Given the description of an element on the screen output the (x, y) to click on. 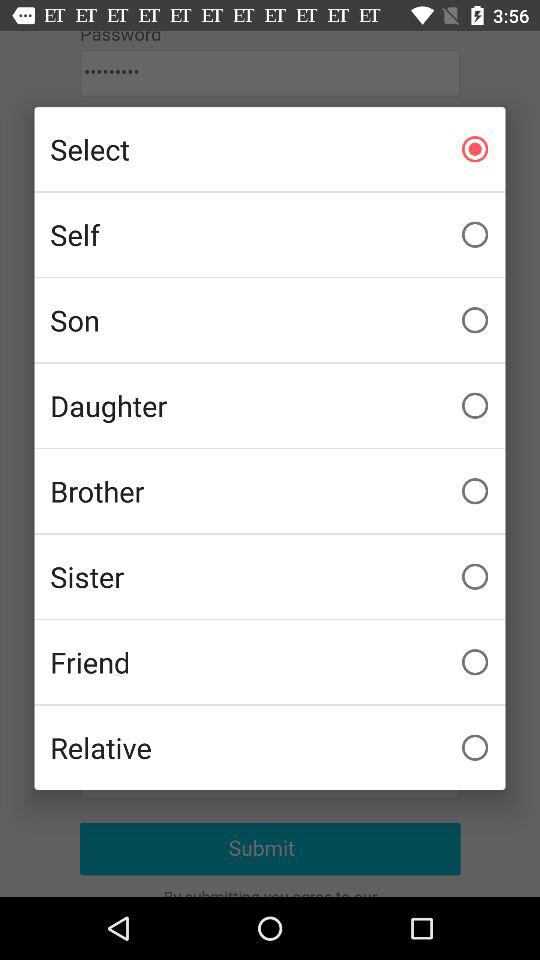
choose the relative checkbox (269, 747)
